Given the description of an element on the screen output the (x, y) to click on. 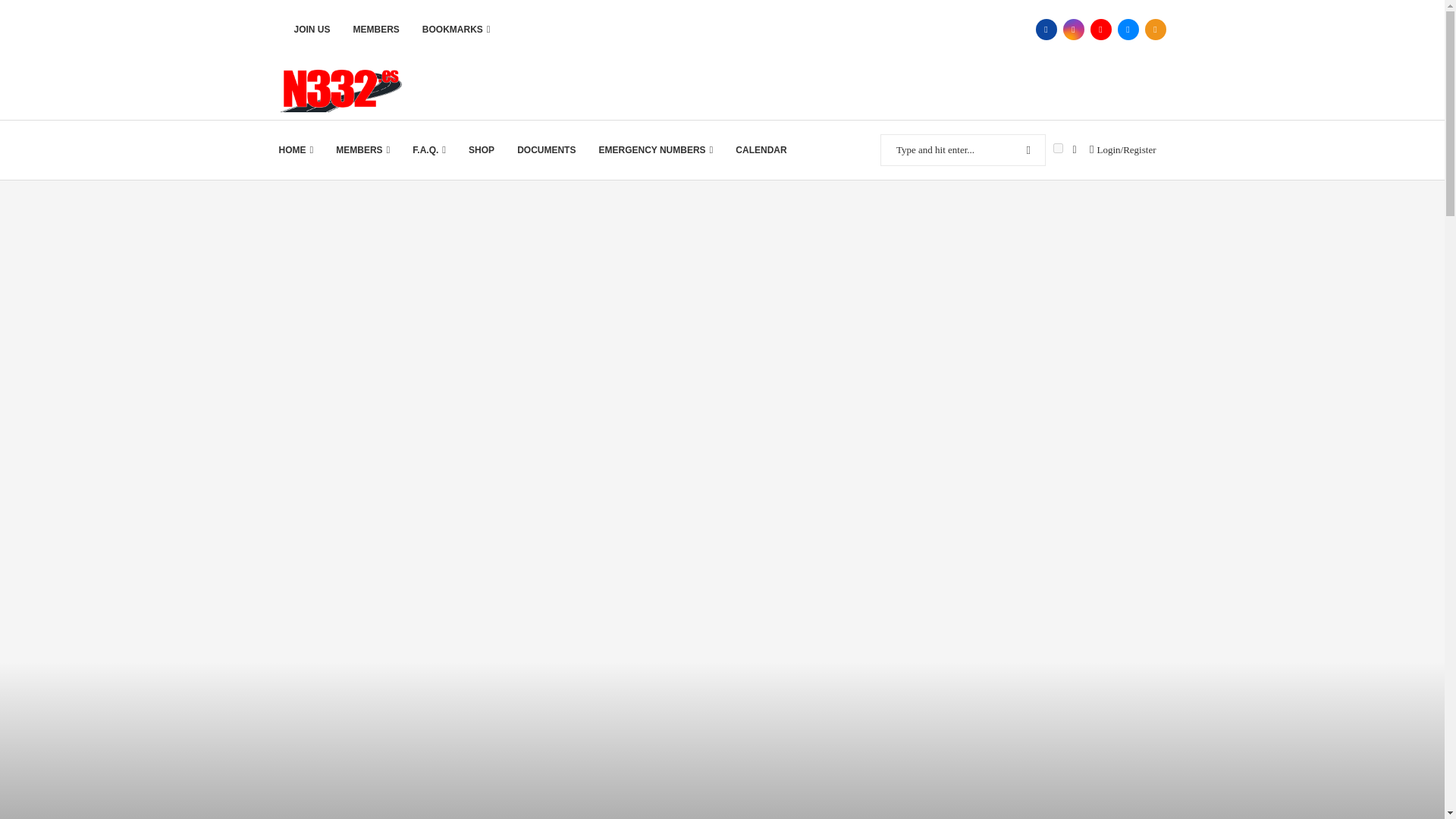
MEMBERS (375, 29)
BOOKMARKS (456, 29)
on (1057, 148)
Bookmark (1074, 150)
Emergency telephone numbers in Spain (655, 149)
